Given the description of an element on the screen output the (x, y) to click on. 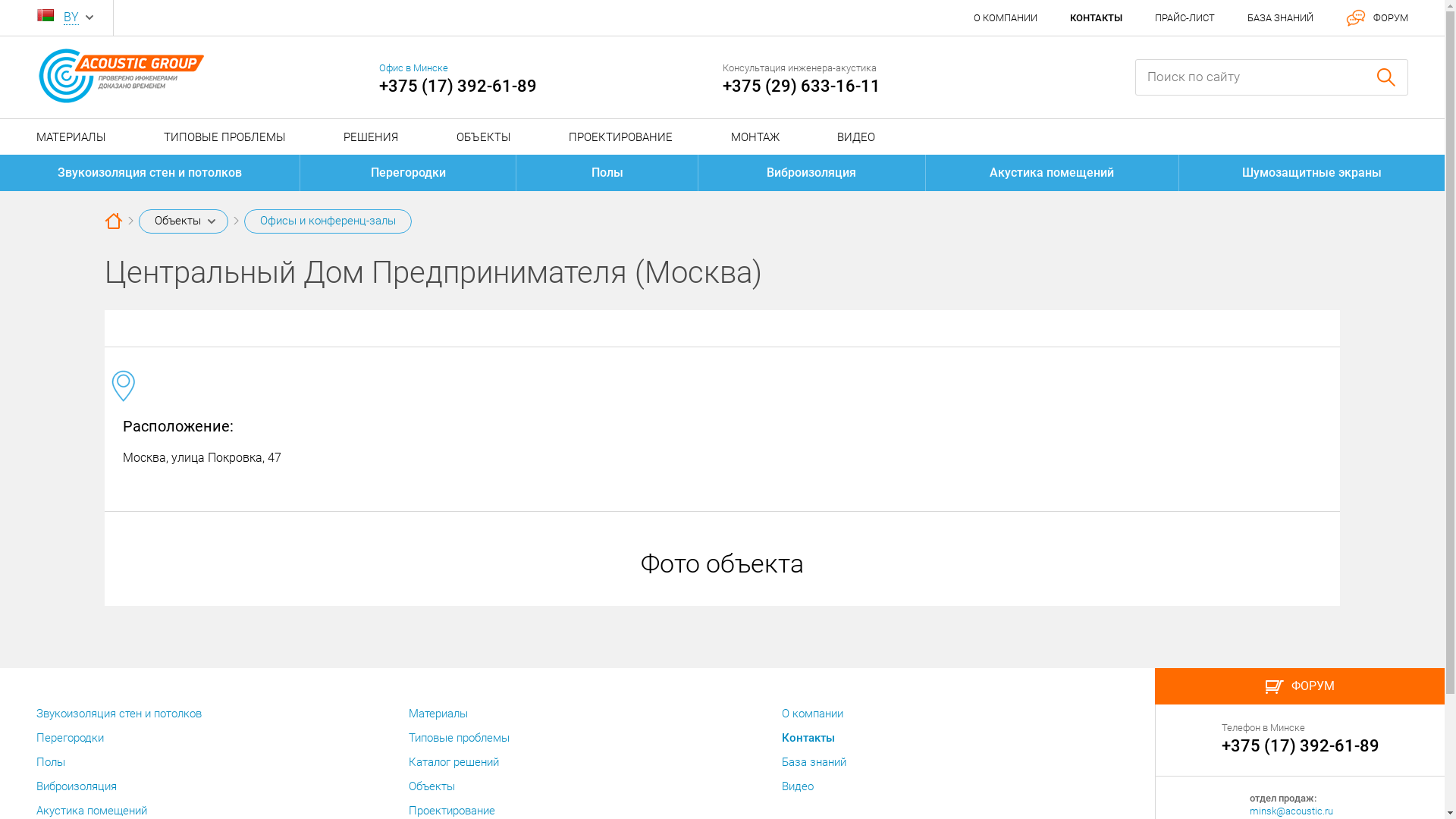
minsk@acoustic.ru Element type: text (1291, 810)
BY Element type: text (70, 17)
